Given the description of an element on the screen output the (x, y) to click on. 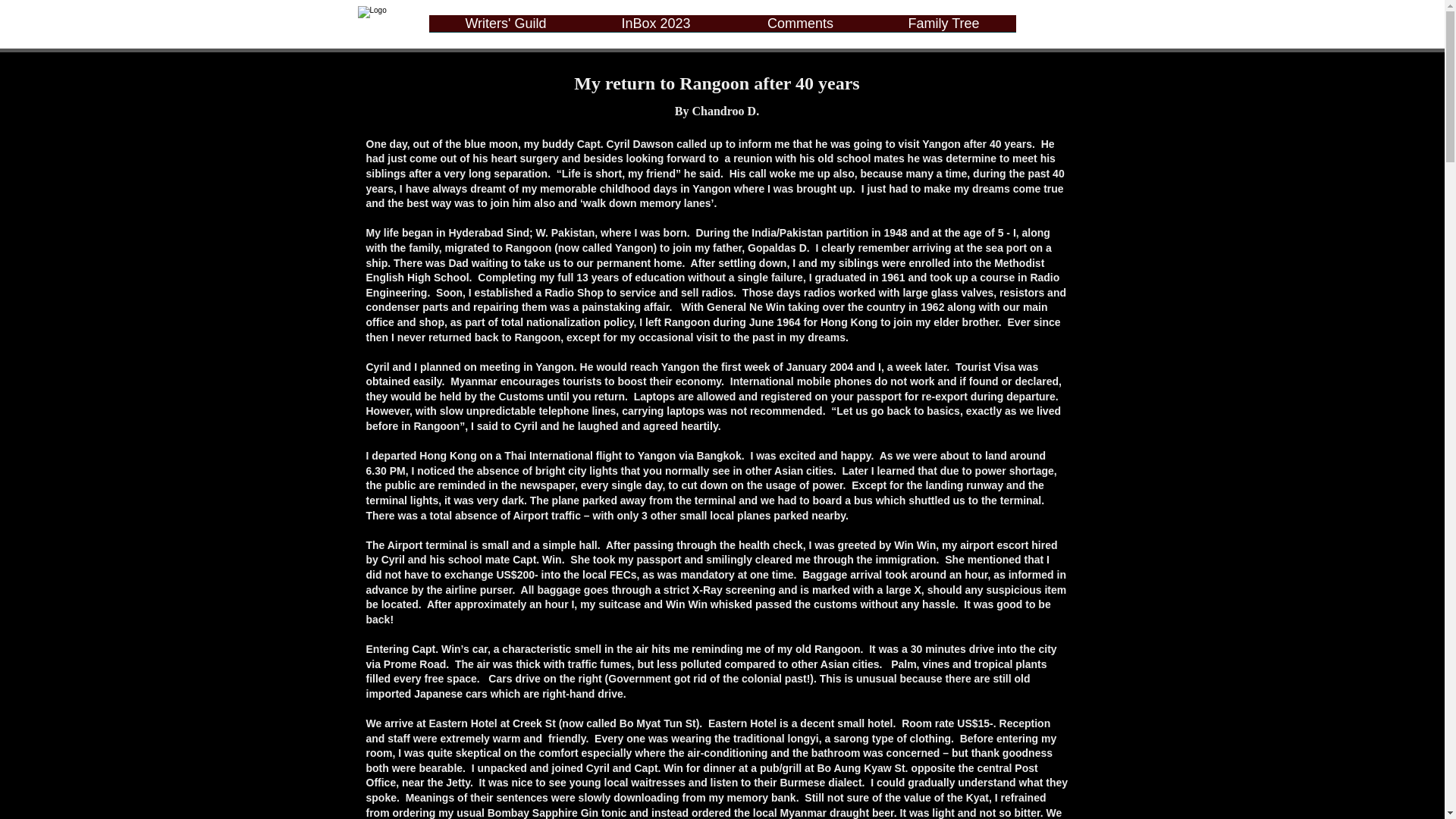
InBox 2023 (655, 28)
Comments (800, 28)
Family Tree (944, 28)
Writers' Guild (506, 28)
